Given the description of an element on the screen output the (x, y) to click on. 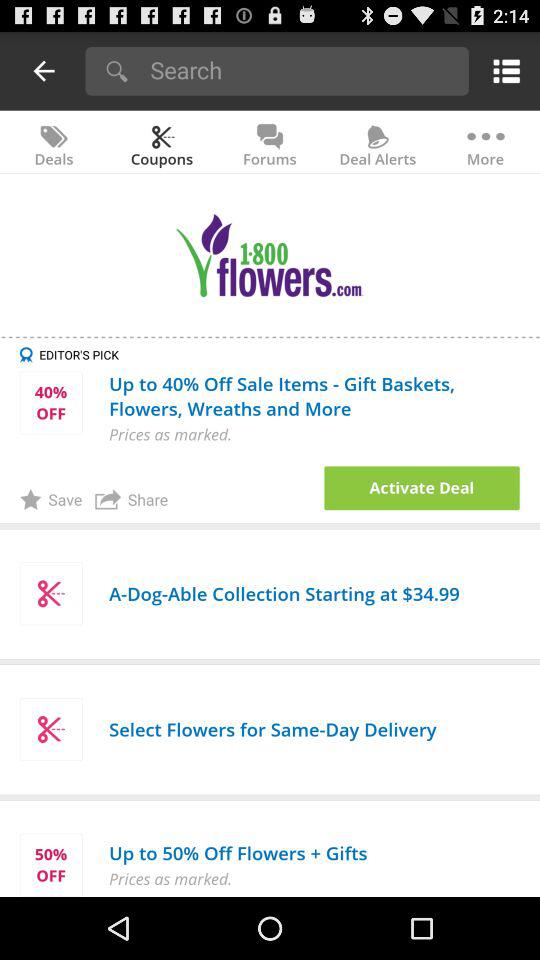
undo (44, 70)
